Given the description of an element on the screen output the (x, y) to click on. 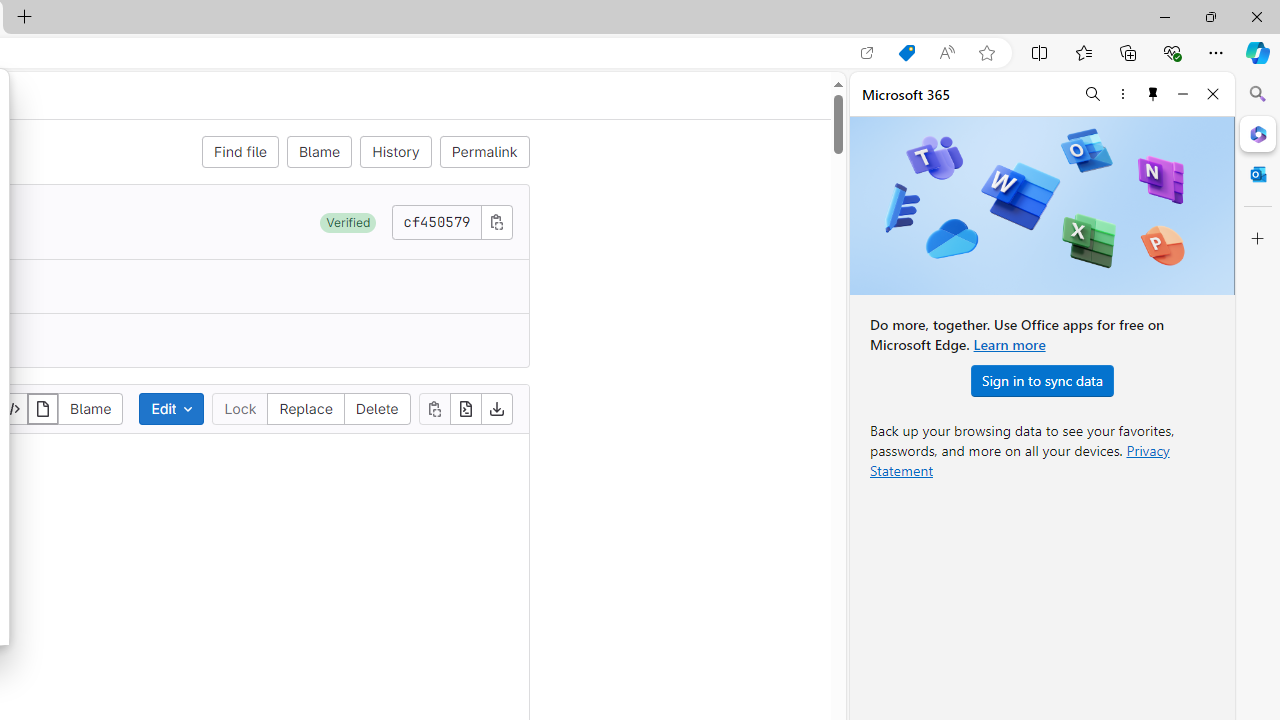
Copy commit SHA (496, 221)
Replace (306, 408)
Edit (171, 408)
Verified (348, 221)
Sign in to sync data (1042, 380)
